Given the description of an element on the screen output the (x, y) to click on. 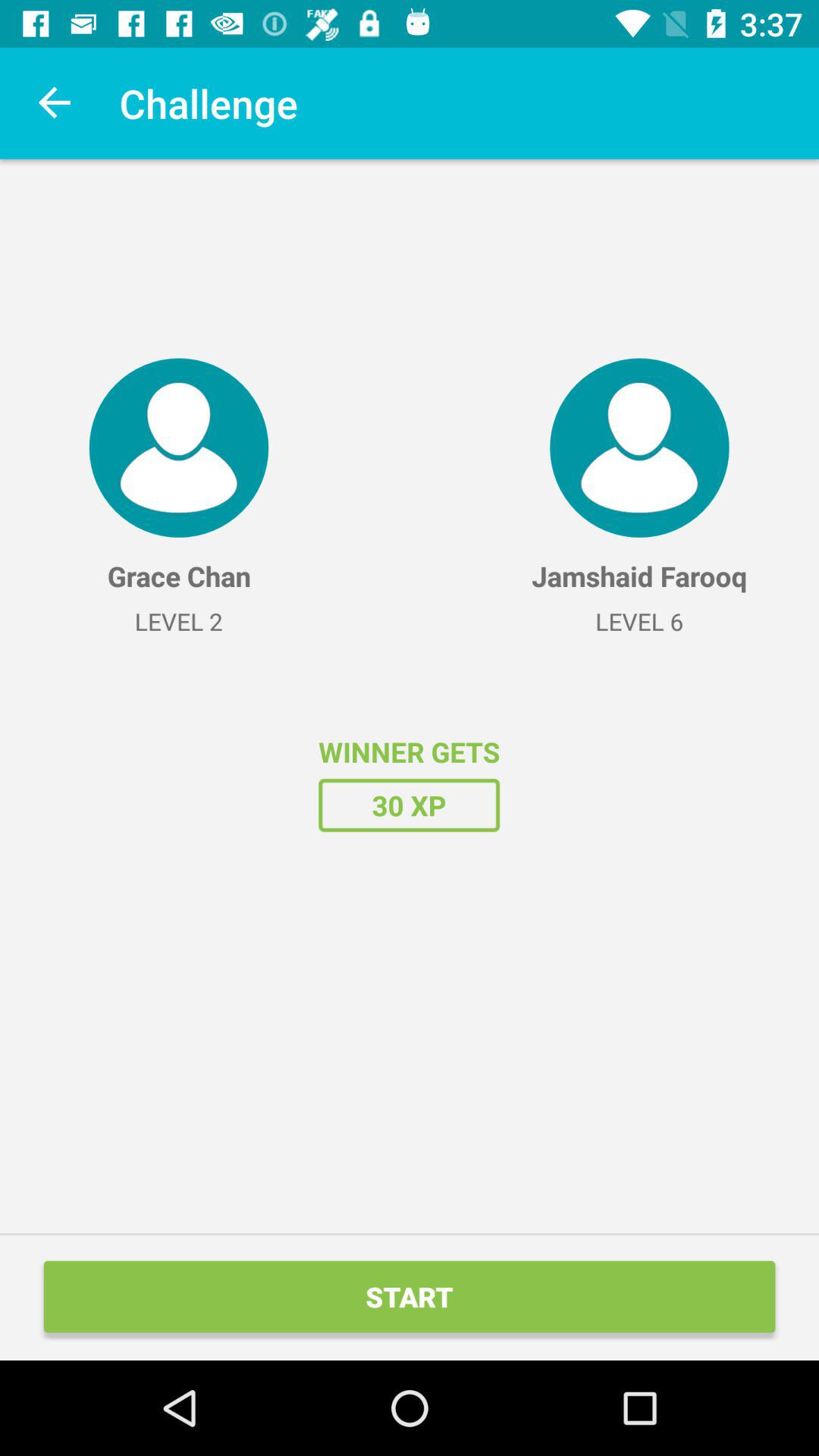
profile (178, 447)
